Given the description of an element on the screen output the (x, y) to click on. 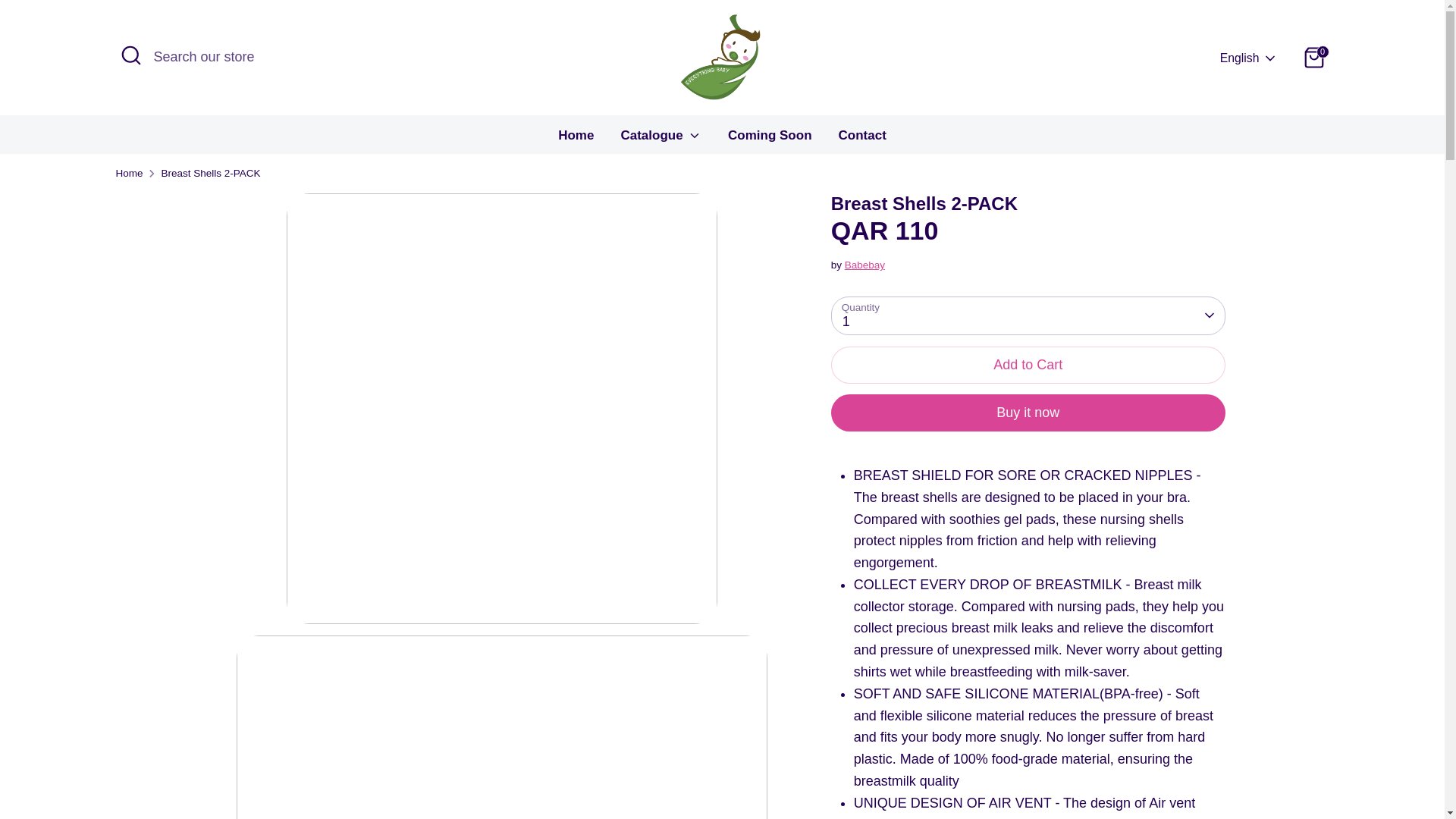
English (1249, 57)
0 (1312, 57)
